Given the description of an element on the screen output the (x, y) to click on. 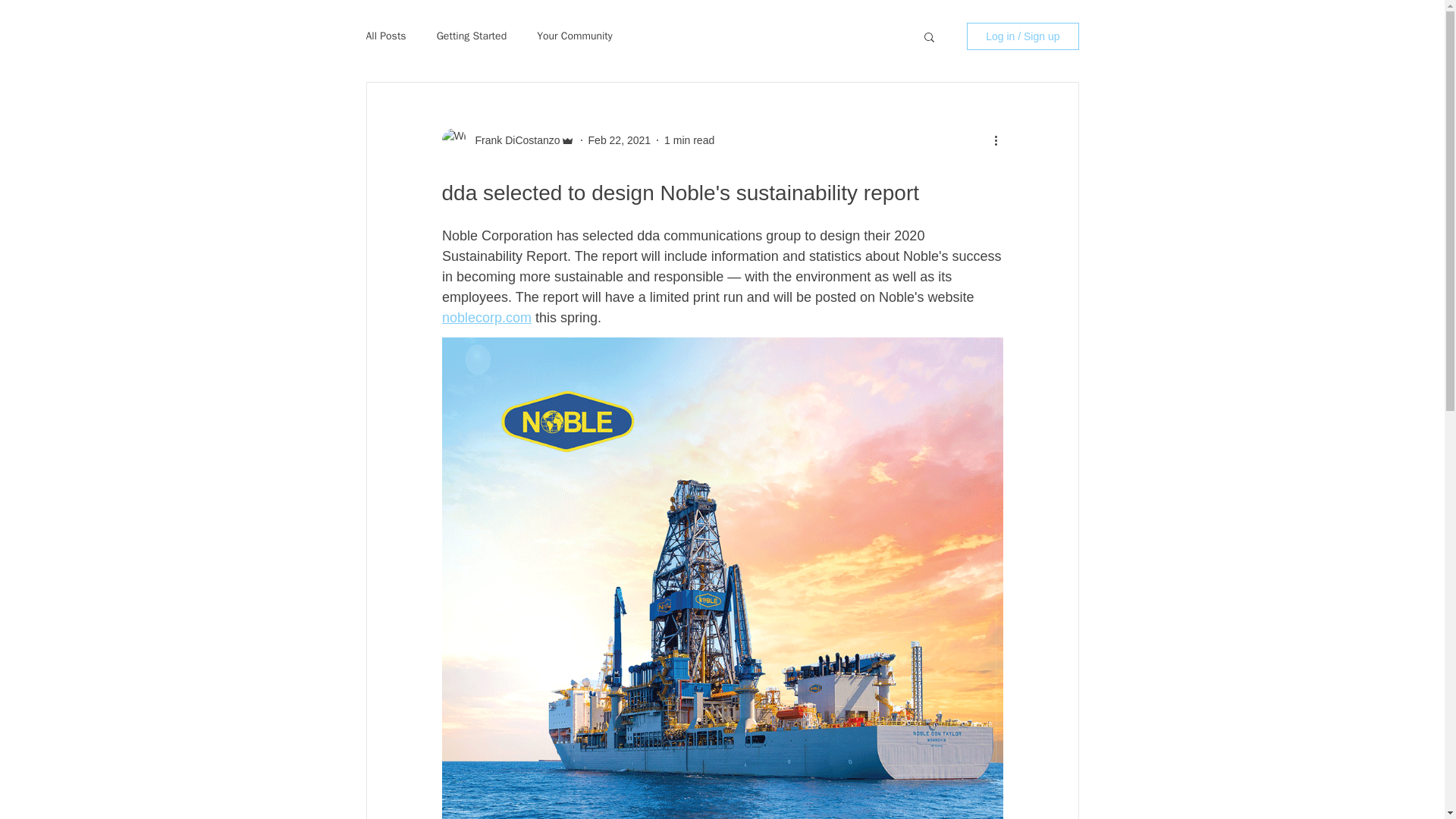
Frank DiCostanzo (512, 139)
Getting Started (471, 36)
noblecorp.com (486, 317)
Your Community (574, 36)
All Posts (385, 36)
1 min read (688, 139)
Feb 22, 2021 (619, 139)
